Given the description of an element on the screen output the (x, y) to click on. 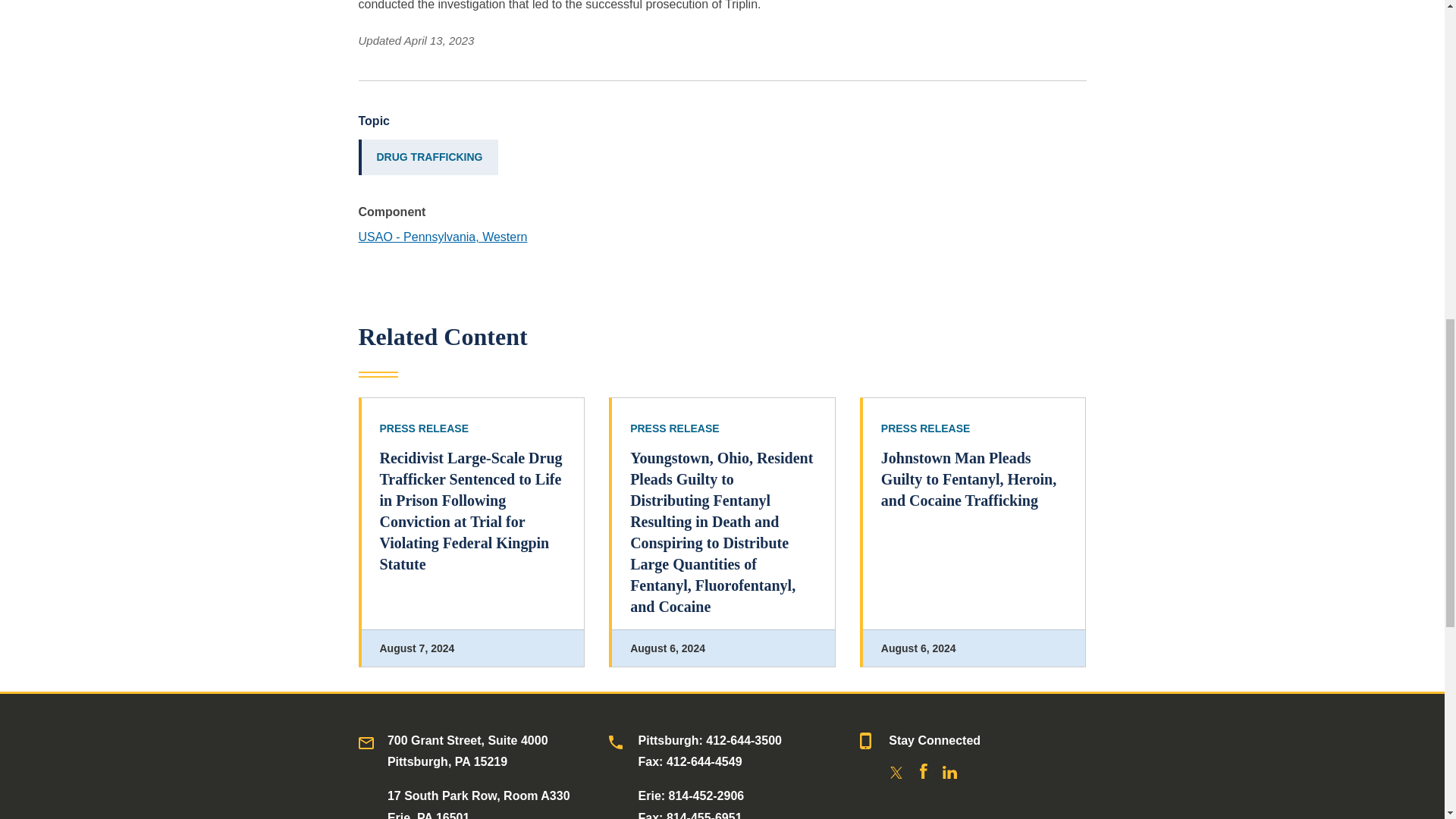
USAO - Pennsylvania, Western (442, 236)
